Given the description of an element on the screen output the (x, y) to click on. 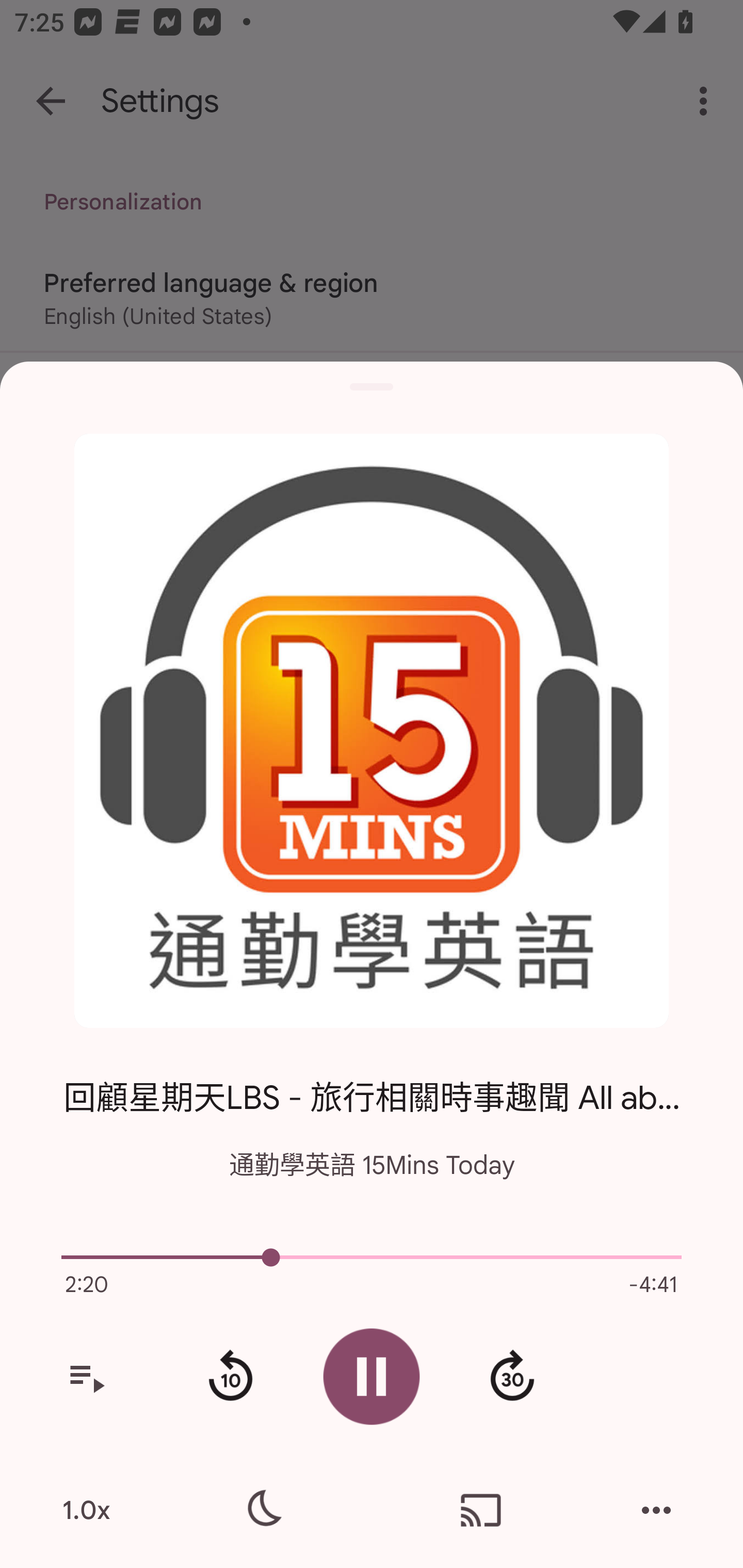
Open the show page for 通勤學英語 15Mins Today (371, 731)
3329.0 Current episode playback (371, 1257)
Pause (371, 1376)
View your queue (86, 1376)
Rewind 10 seconds (230, 1376)
Fast forward 30 second (511, 1376)
1.0x Playback speed is 1.0. (86, 1510)
Sleep timer settings (261, 1510)
Cast. Disconnected (480, 1510)
More actions (655, 1510)
